Given the description of an element on the screen output the (x, y) to click on. 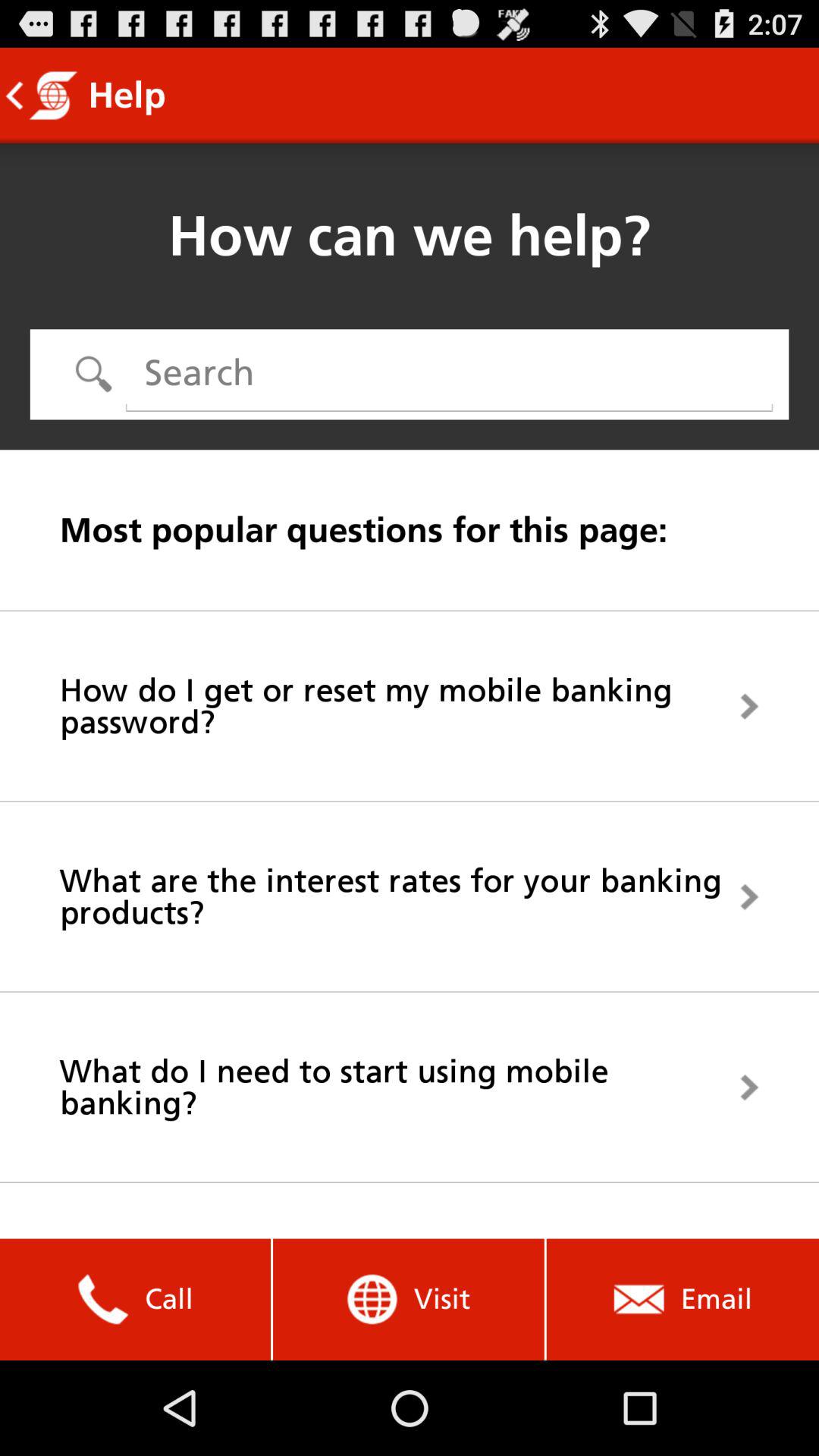
turn on the icon above the most popular questions (449, 372)
